Given the description of an element on the screen output the (x, y) to click on. 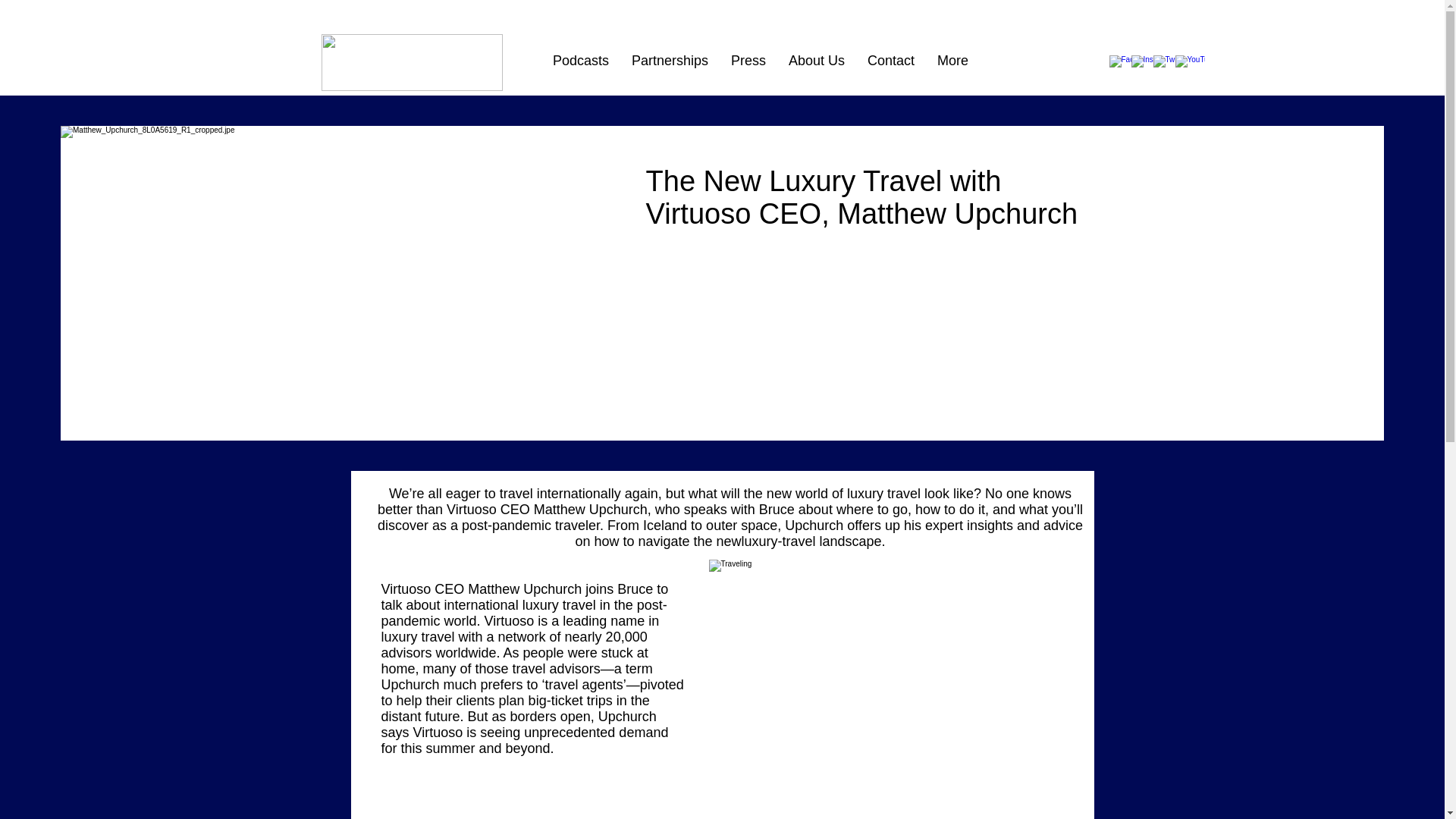
Press (748, 67)
About Us (816, 67)
Podcasts (580, 67)
Contact (891, 67)
Partnerships (669, 67)
